Given the description of an element on the screen output the (x, y) to click on. 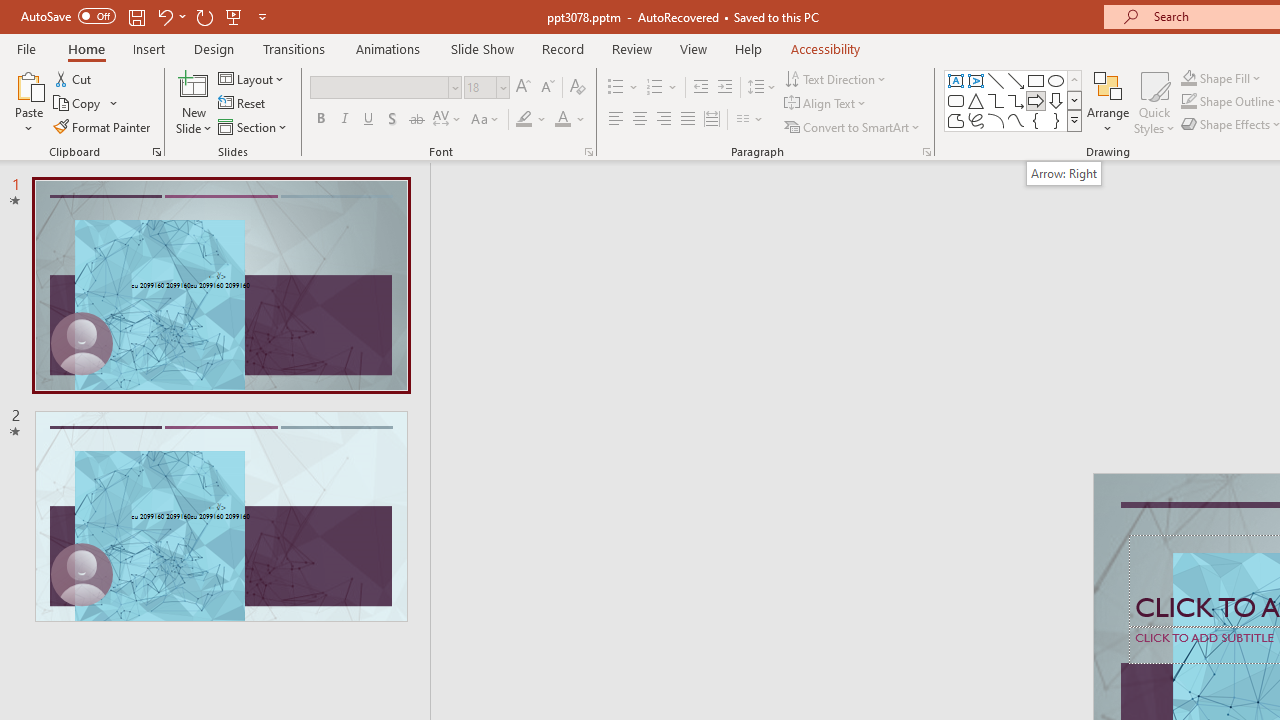
Shape Outline Green, Accent 1 (1188, 101)
Underline (369, 119)
Oval (1055, 80)
Change Case (486, 119)
Align Left (616, 119)
Shape Fill Dark Green, Accent 2 (1188, 78)
Text Direction (836, 78)
Isosceles Triangle (975, 100)
